Given the description of an element on the screen output the (x, y) to click on. 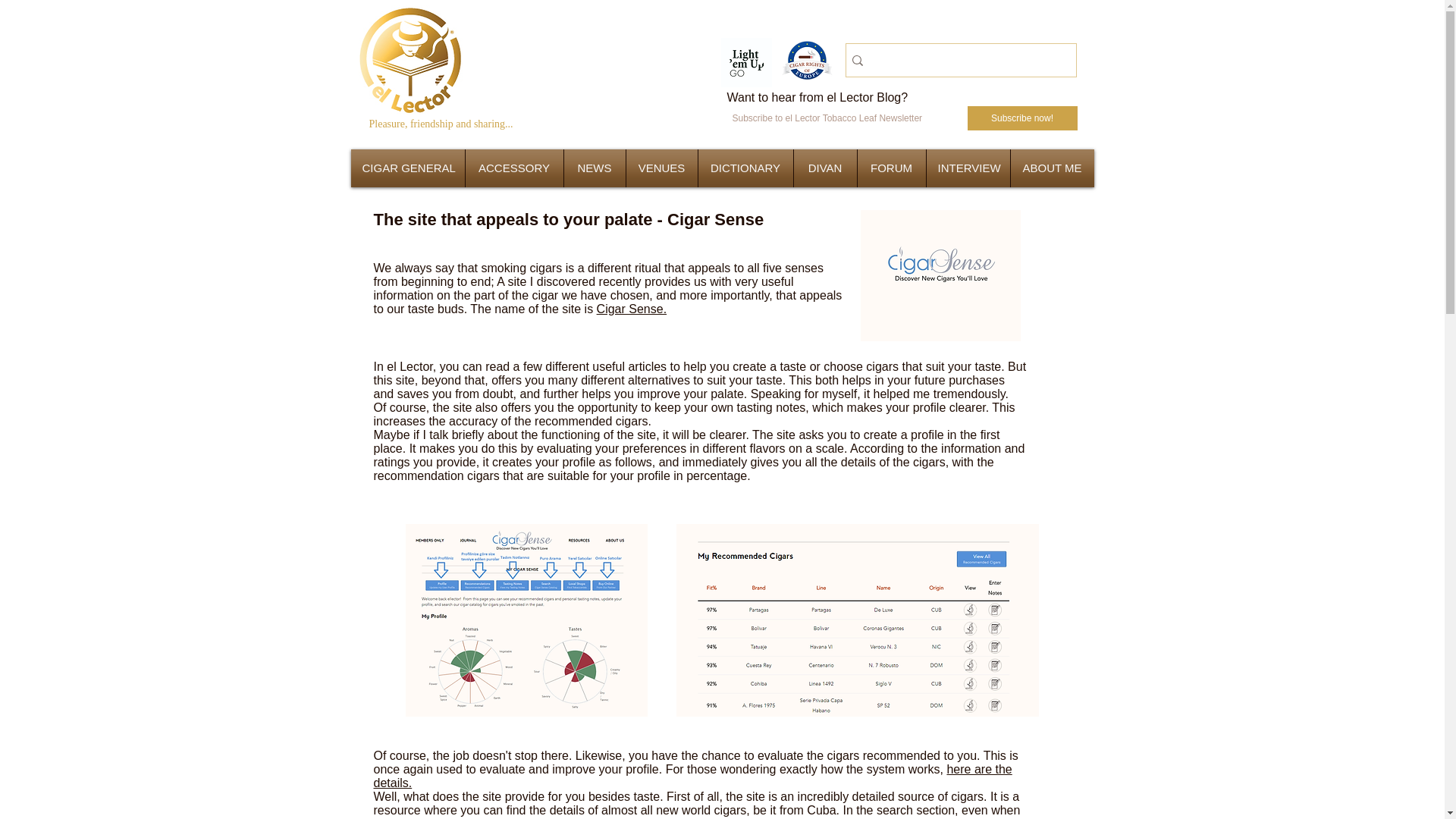
FORUM (891, 168)
DIVAN (825, 168)
DICTIONARY (745, 168)
Cigar Sense. (631, 308)
ACCESSORY (513, 168)
CIGAR GENERAL (408, 168)
Subscribe now! (1022, 118)
NEWS (594, 168)
VENUES (660, 168)
here are the details. (691, 775)
